Given the description of an element on the screen output the (x, y) to click on. 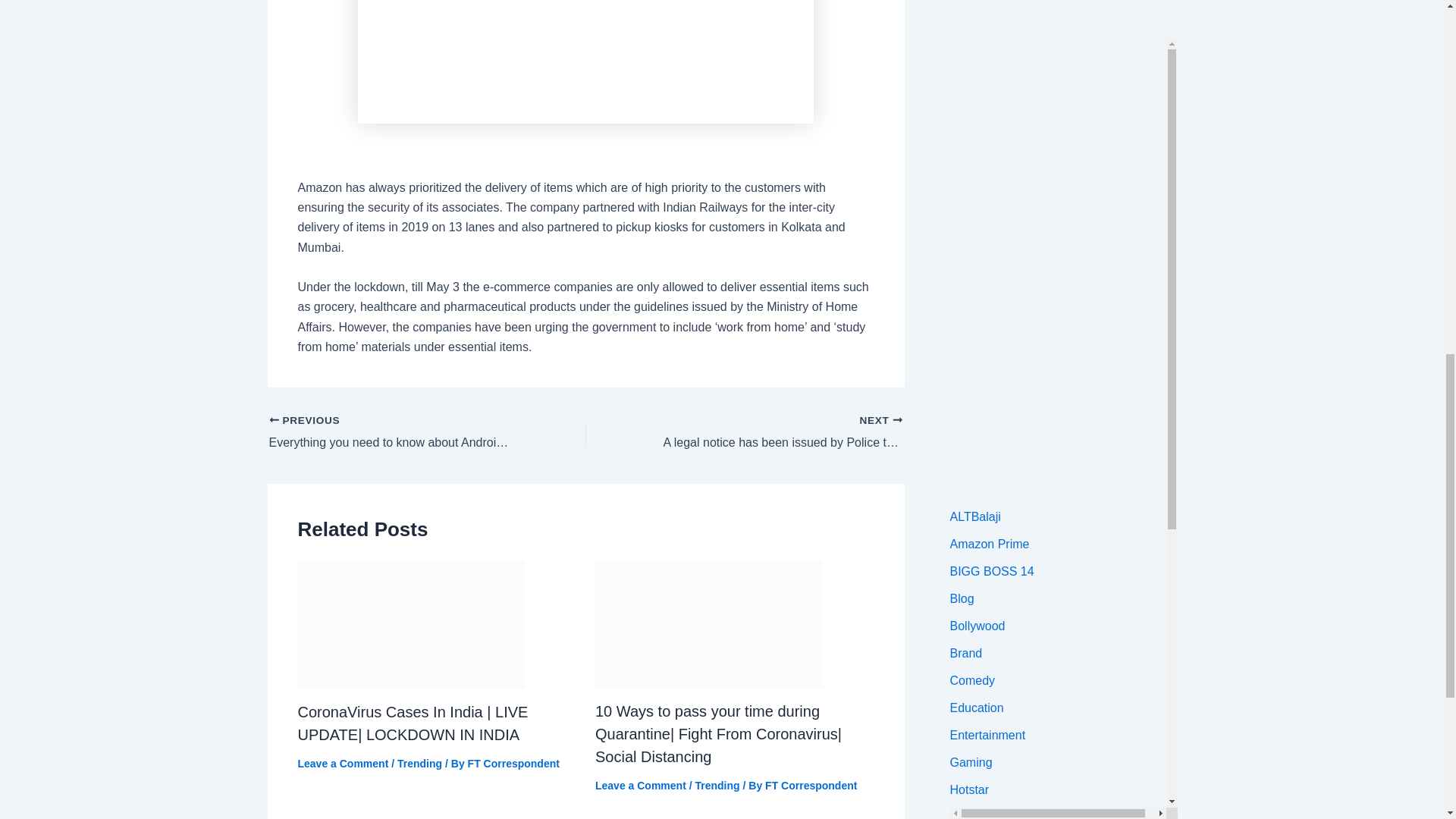
Everything you need to know about Android Engineering (394, 432)
Trending (716, 785)
View all posts by FT Correspondent (513, 763)
FT Correspondent (513, 763)
Leave a Comment (342, 763)
Leave a Comment (640, 785)
FT Correspondent (811, 785)
View all posts by FT Correspondent (811, 785)
Trending (419, 763)
